Given the description of an element on the screen output the (x, y) to click on. 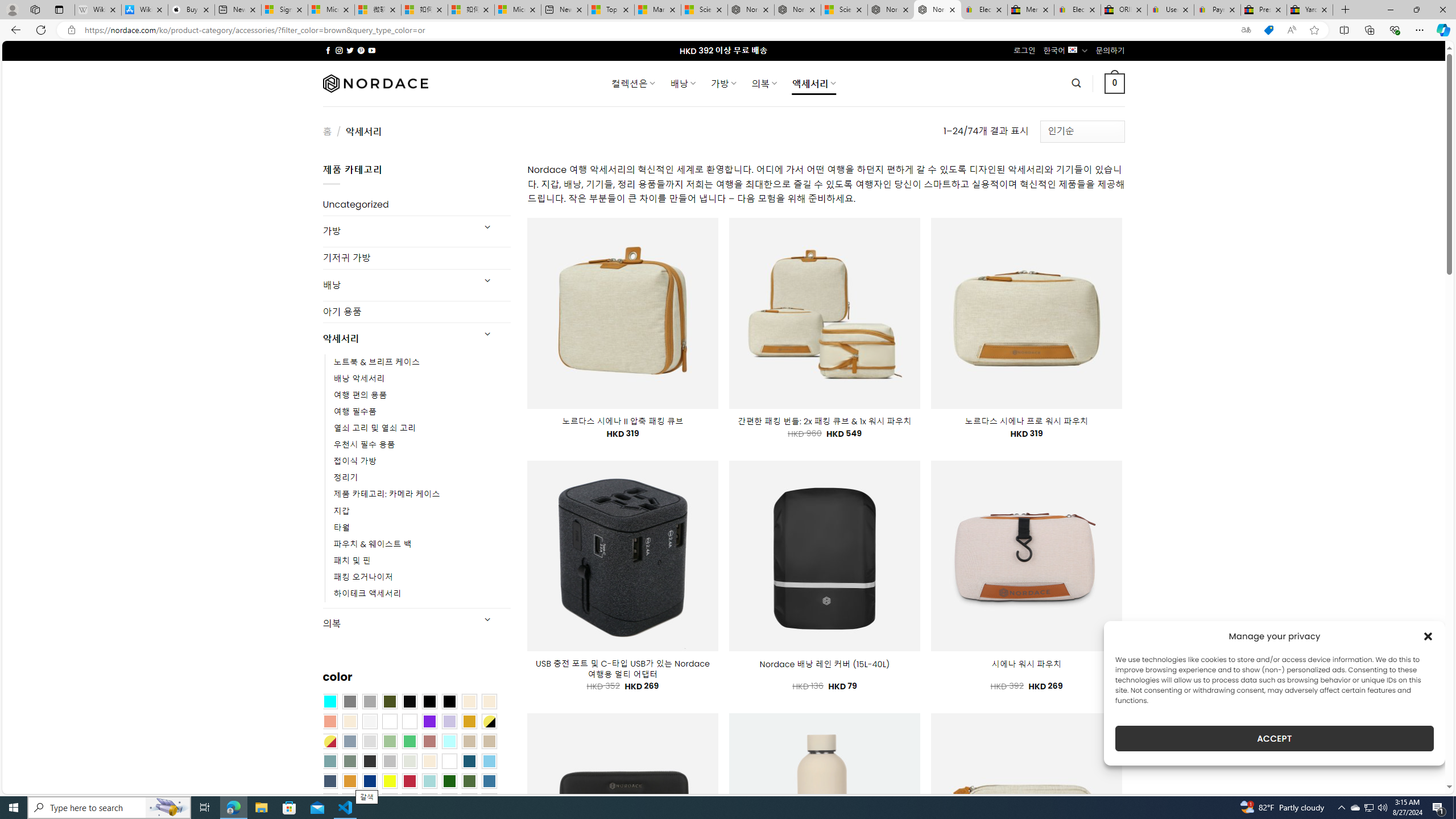
Buy iPad - Apple (191, 9)
Sign in to your Microsoft account (284, 9)
